Given the description of an element on the screen output the (x, y) to click on. 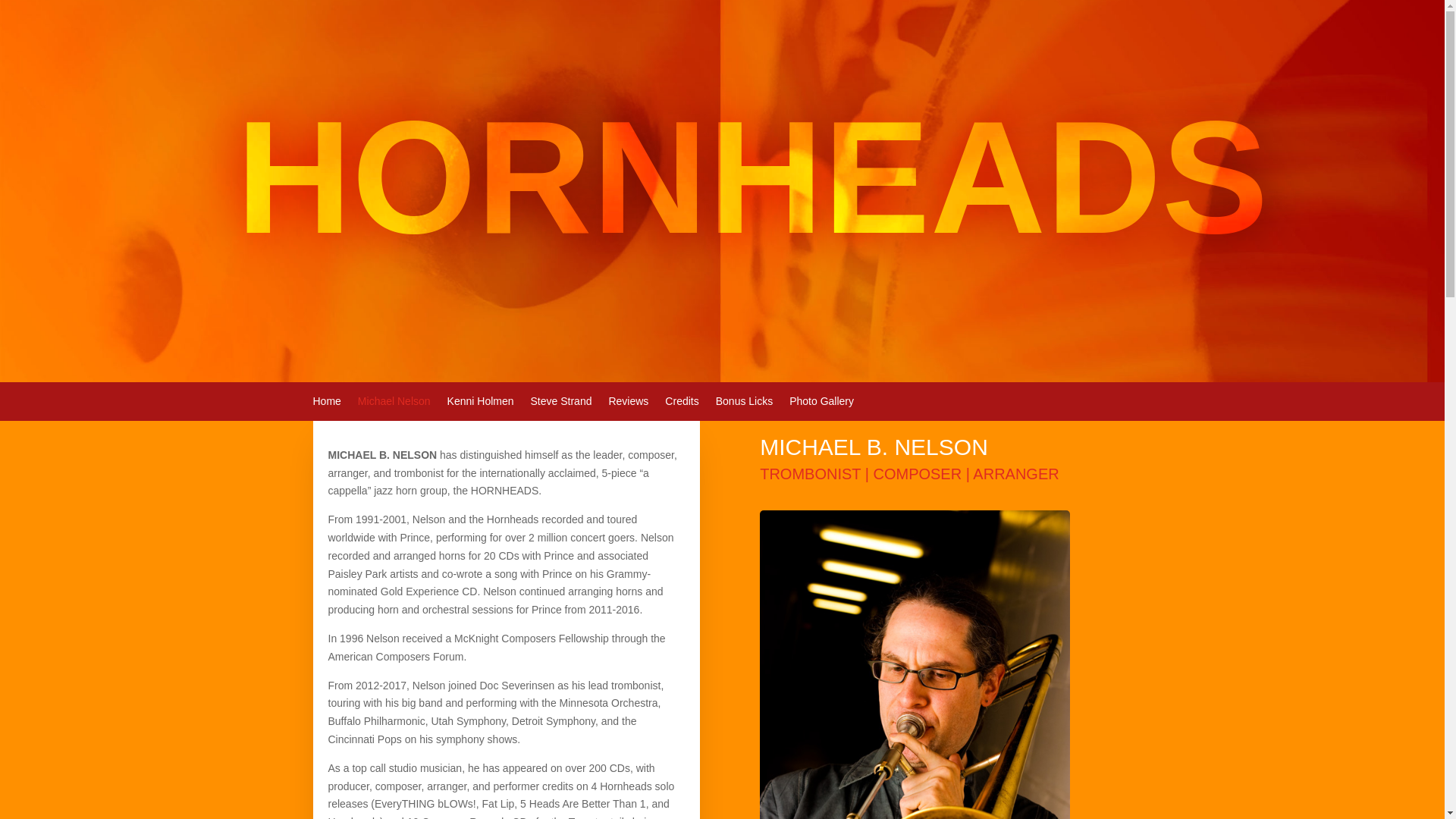
Michael Nelson (394, 403)
Kenni Holmen (479, 403)
Michael-Nelson (915, 664)
Bonus Licks (744, 403)
Credits (681, 403)
Steve Strand (561, 403)
Photo Gallery (821, 403)
Home (326, 403)
Reviews (627, 403)
